Given the description of an element on the screen output the (x, y) to click on. 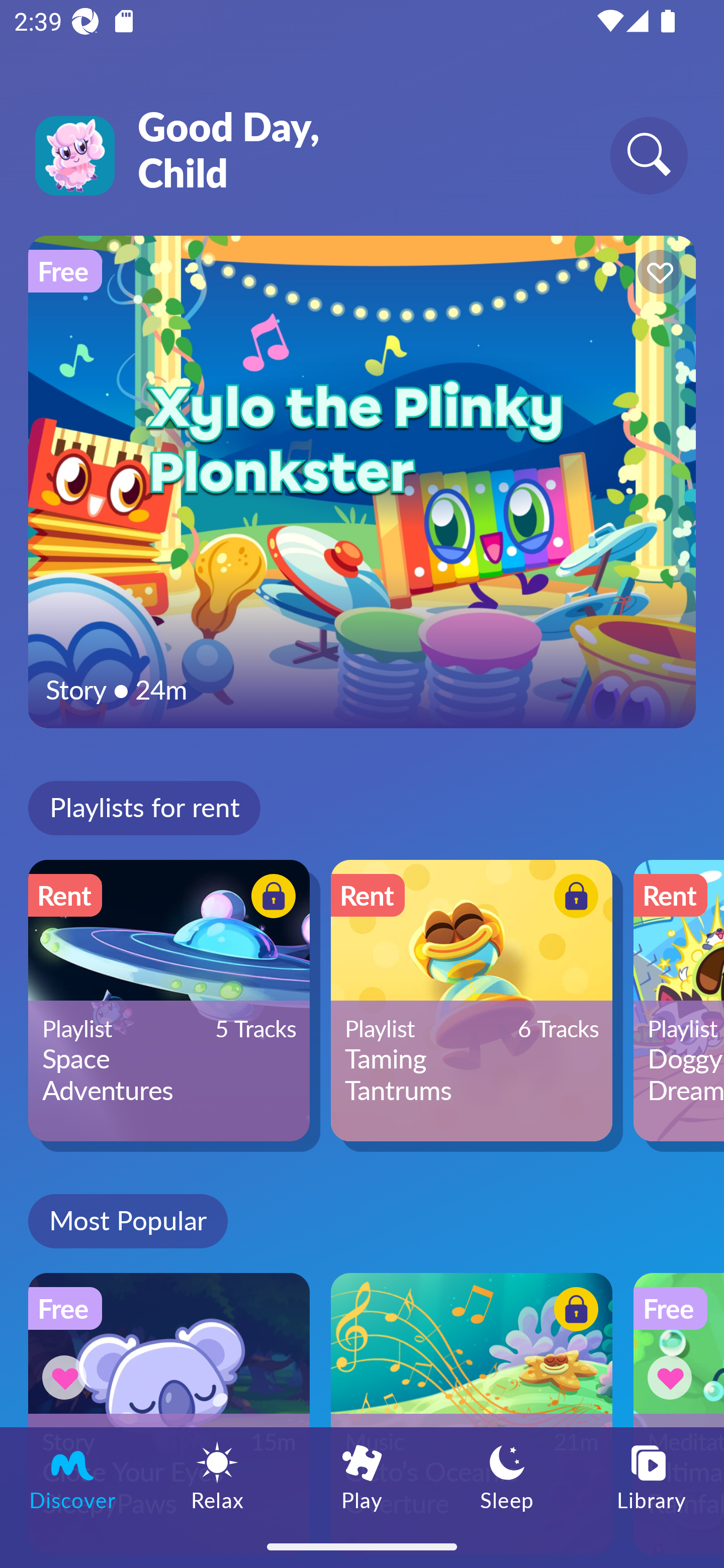
Search (648, 154)
Featured Content Free Button Story ● 24m (361, 481)
Button (656, 274)
Button (269, 898)
Button (573, 898)
Button (573, 1312)
Button (67, 1377)
Button (672, 1377)
Relax (216, 1475)
Play (361, 1475)
Sleep (506, 1475)
Library (651, 1475)
